Given the description of an element on the screen output the (x, y) to click on. 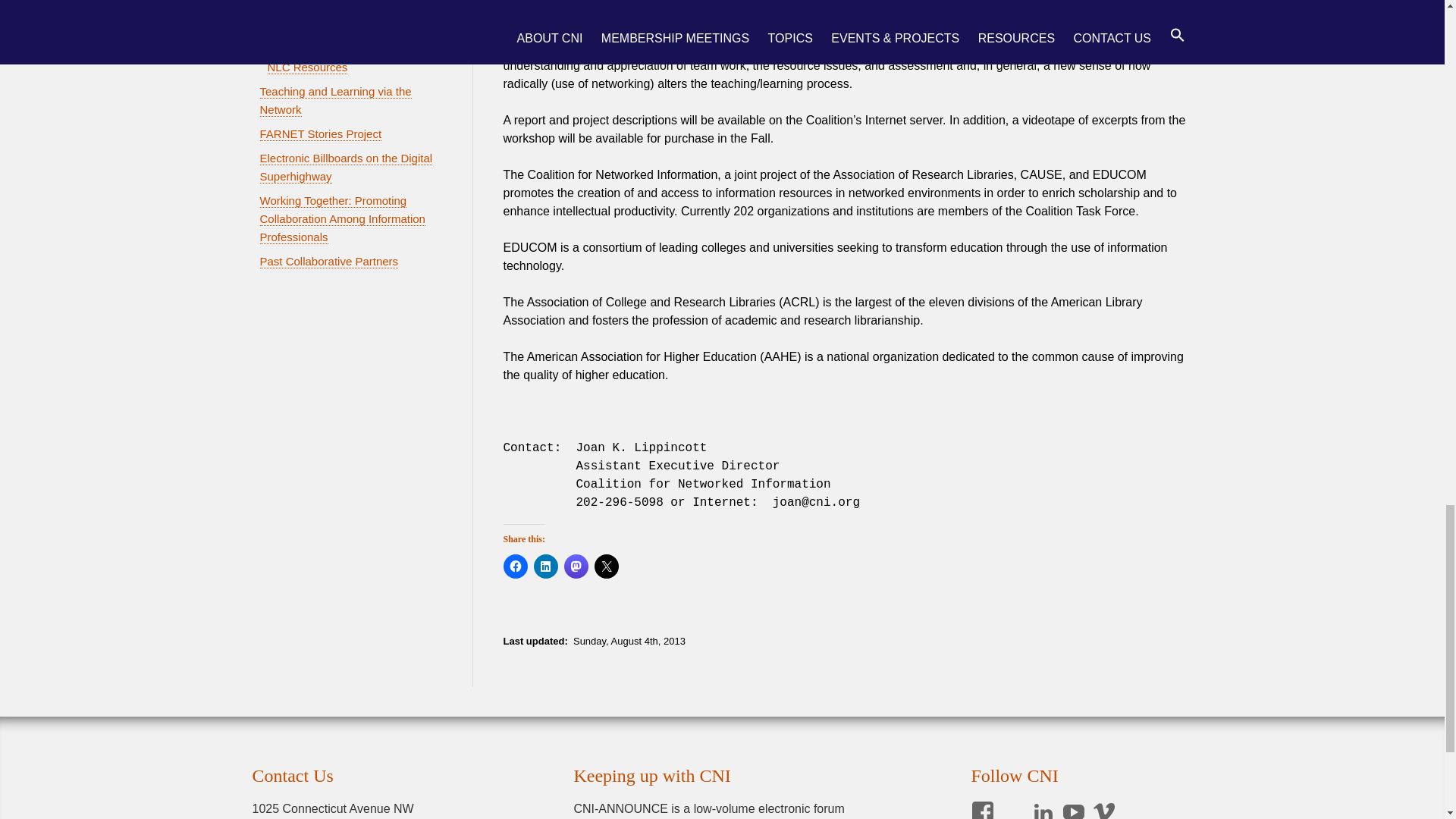
Click to share on LinkedIn (545, 566)
Click to share on X (606, 566)
Click to share on Mastodon (576, 566)
Click to share on Facebook (515, 566)
